Given the description of an element on the screen output the (x, y) to click on. 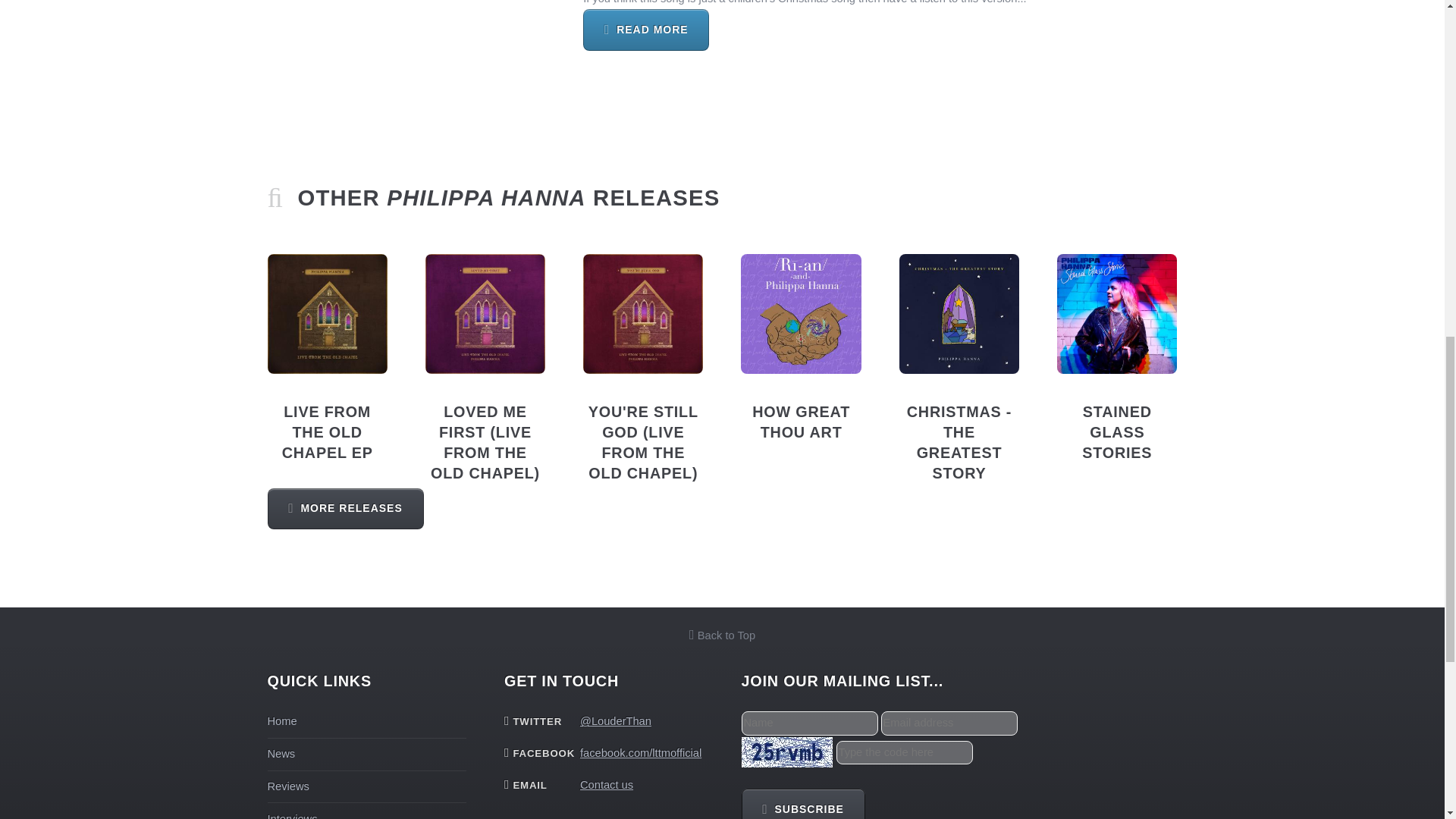
READ MORE (646, 29)
Home (281, 720)
MORE RELEASES (344, 508)
News (280, 753)
Stained Glass Stories (1116, 313)
CHRISTMAS - THE GREATEST STORY (959, 442)
HOW GREAT THOU ART (801, 421)
 Back to Top (721, 635)
Reviews (287, 786)
LIVE FROM THE OLD CHAPEL EP (327, 432)
Christmas - The Greatest Story (959, 313)
How Great Thou Art (800, 313)
STAINED GLASS STORIES (1116, 432)
Interviews (291, 816)
Live From the Old Chapel EP (326, 313)
